Given the description of an element on the screen output the (x, y) to click on. 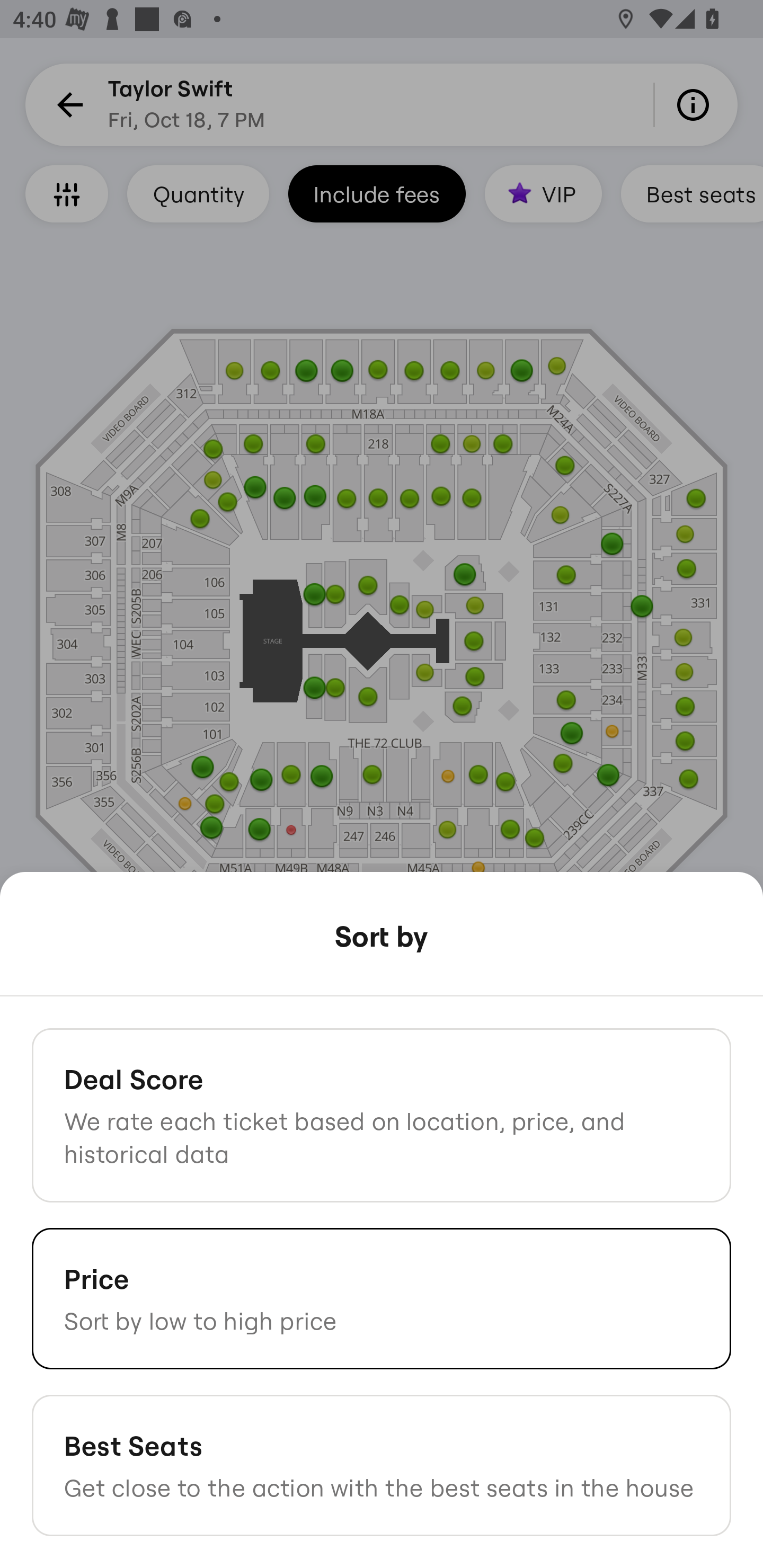
Price Sort by low to high price (381, 1297)
